Given the description of an element on the screen output the (x, y) to click on. 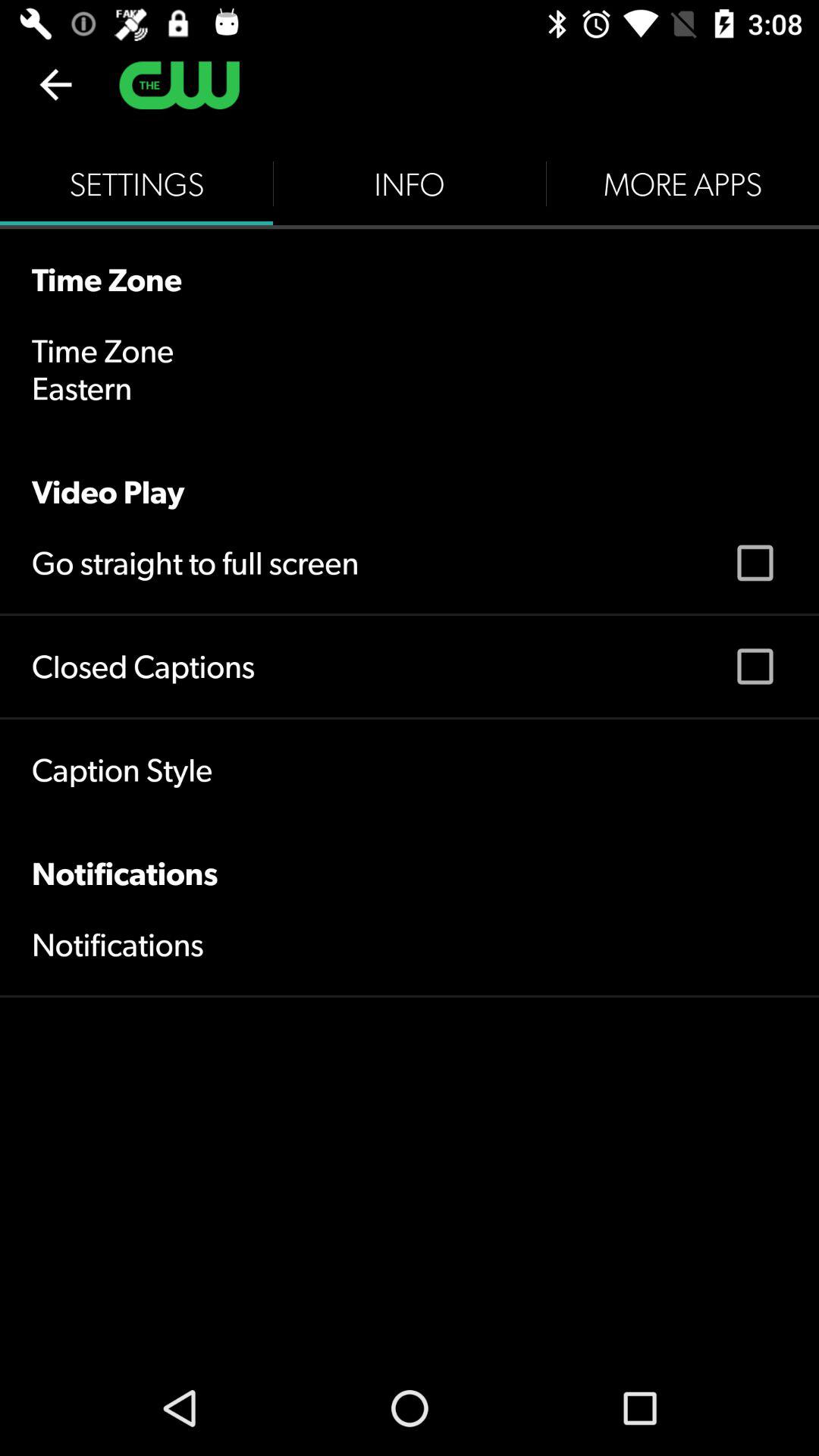
press the video play icon (409, 475)
